Given the description of an element on the screen output the (x, y) to click on. 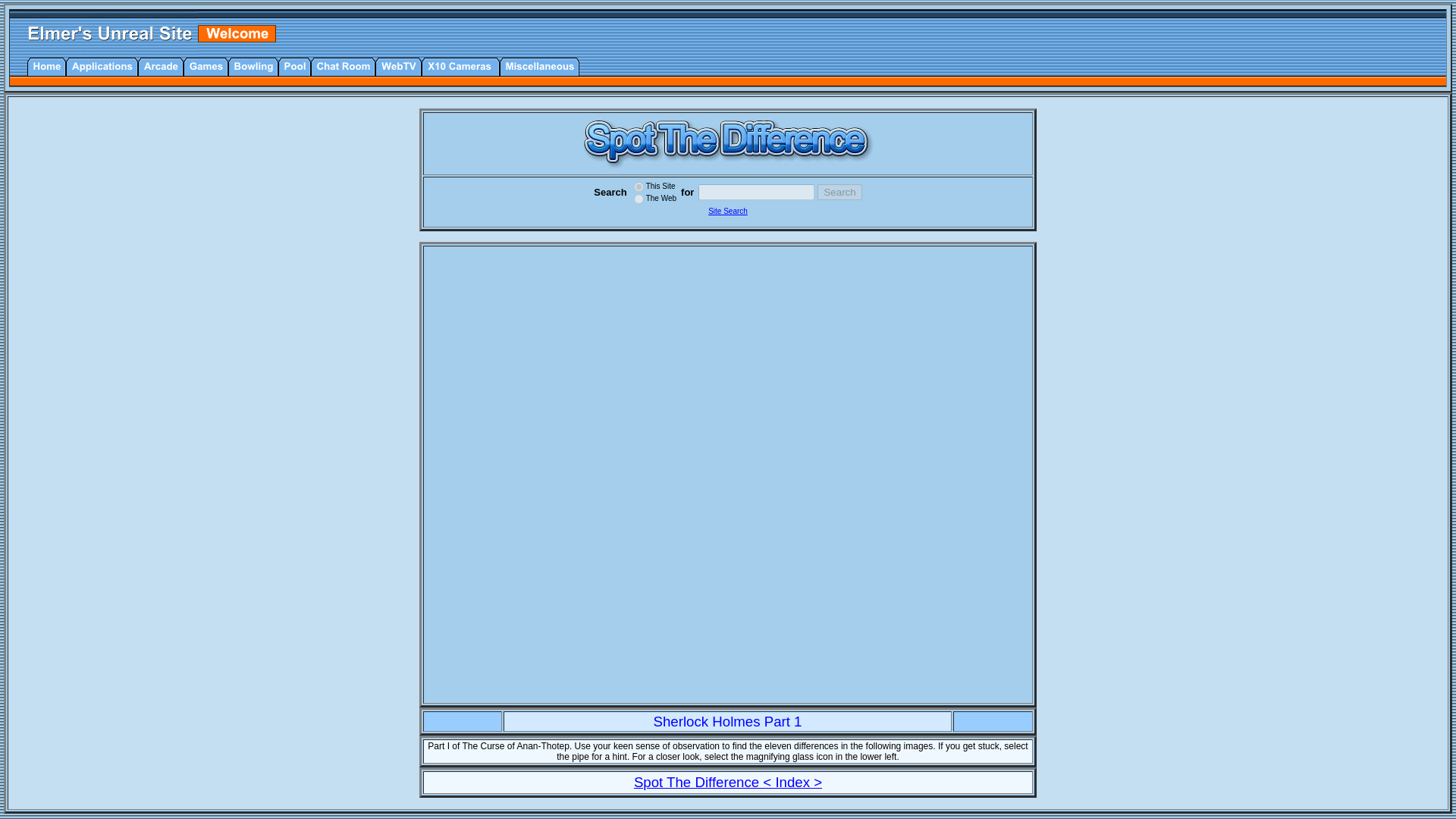
Search (838, 191)
4cdac0c9 (638, 186)
Site Search (727, 210)
web (638, 198)
